Given the description of an element on the screen output the (x, y) to click on. 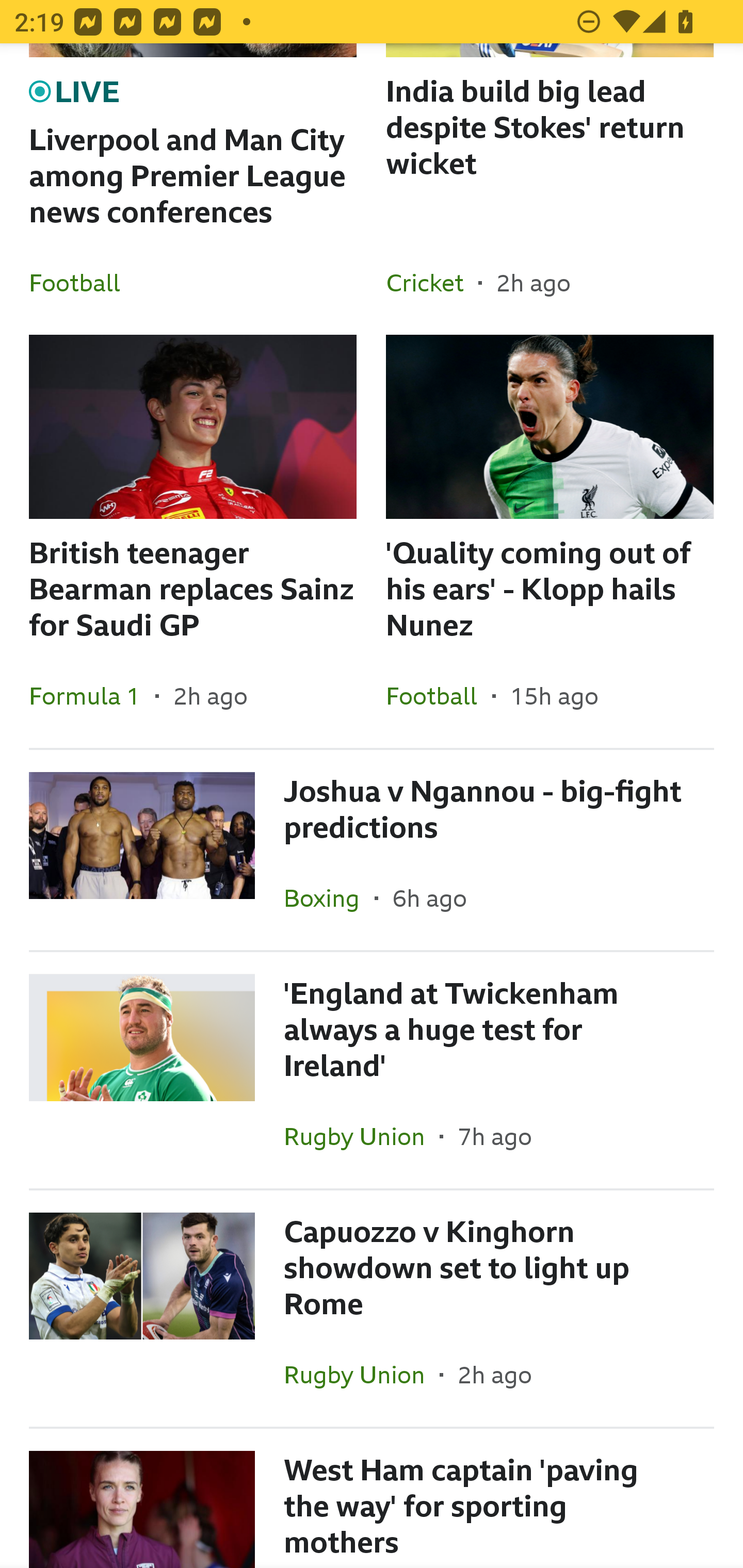
Football In the section Football (81, 281)
Cricket In the section Cricket (431, 281)
Formula 1 In the section Formula 1 (91, 695)
Football In the section Football (438, 695)
Boxing In the section Boxing (328, 897)
Rugby Union In the section Rugby Union (361, 1135)
Rugby Union In the section Rugby Union (361, 1373)
